Given the description of an element on the screen output the (x, y) to click on. 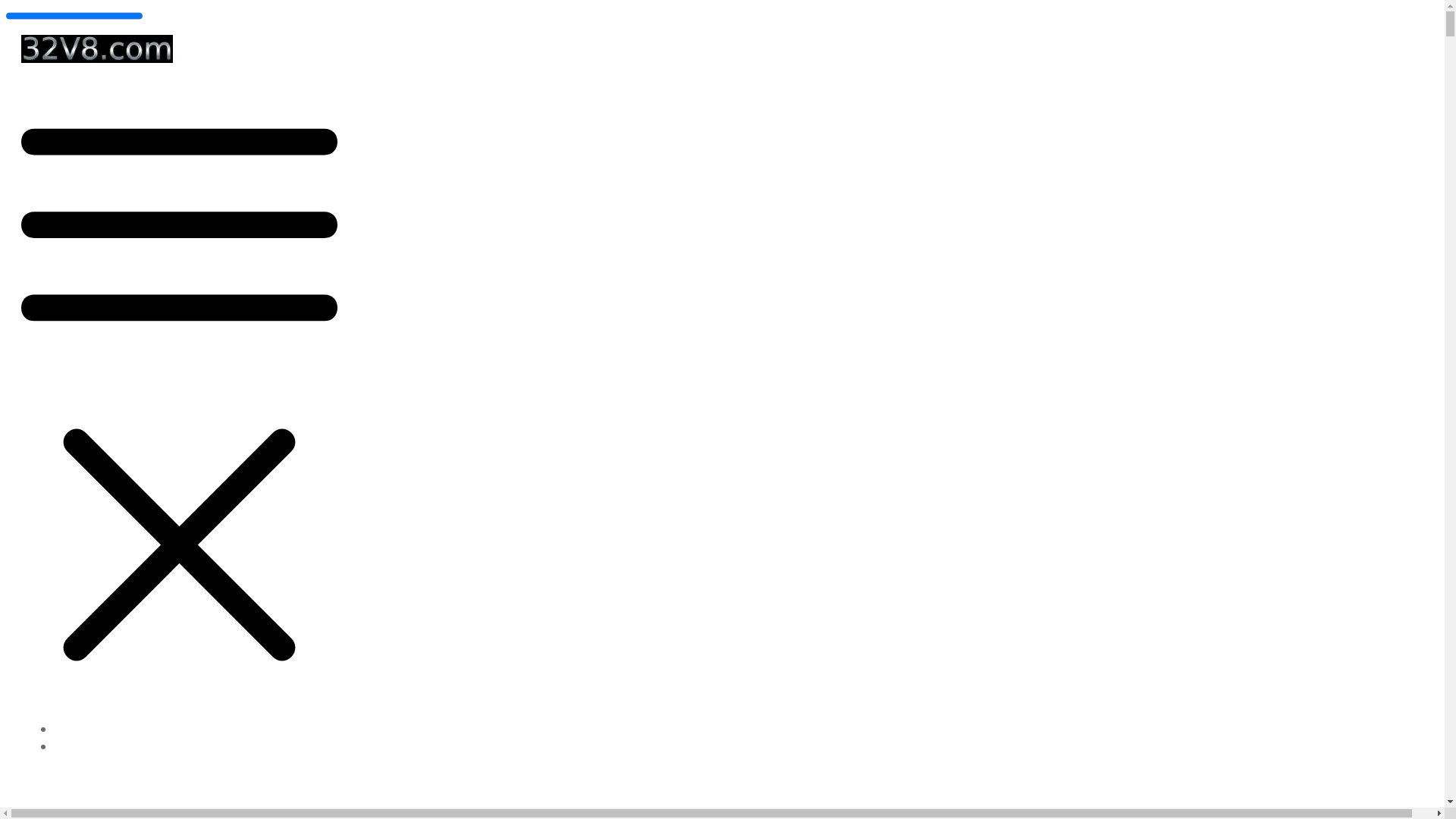
32V8 Website Tuneup Tool Element type: text (120, 730)
